Given the description of an element on the screen output the (x, y) to click on. 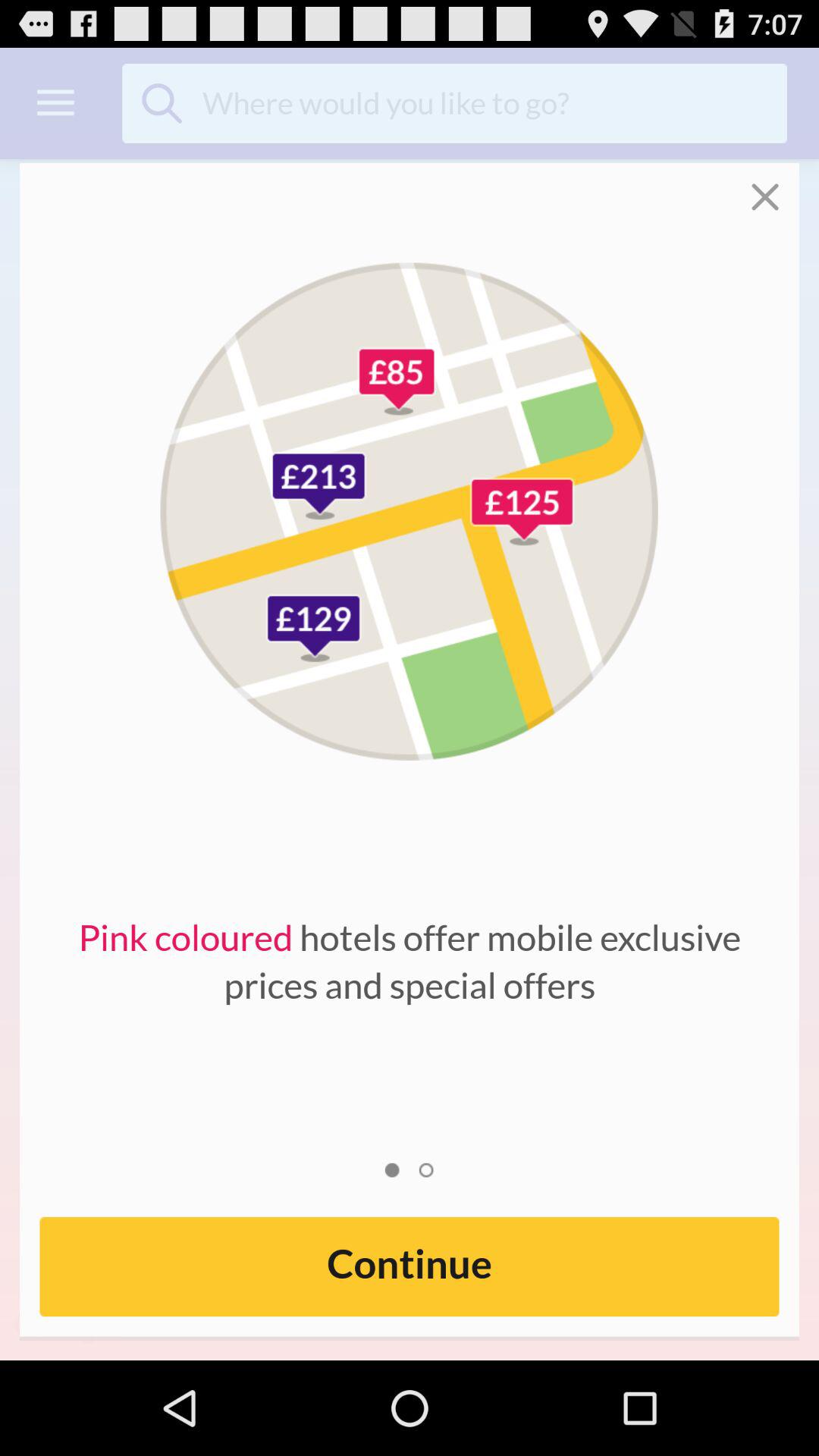
close button (775, 187)
